Given the description of an element on the screen output the (x, y) to click on. 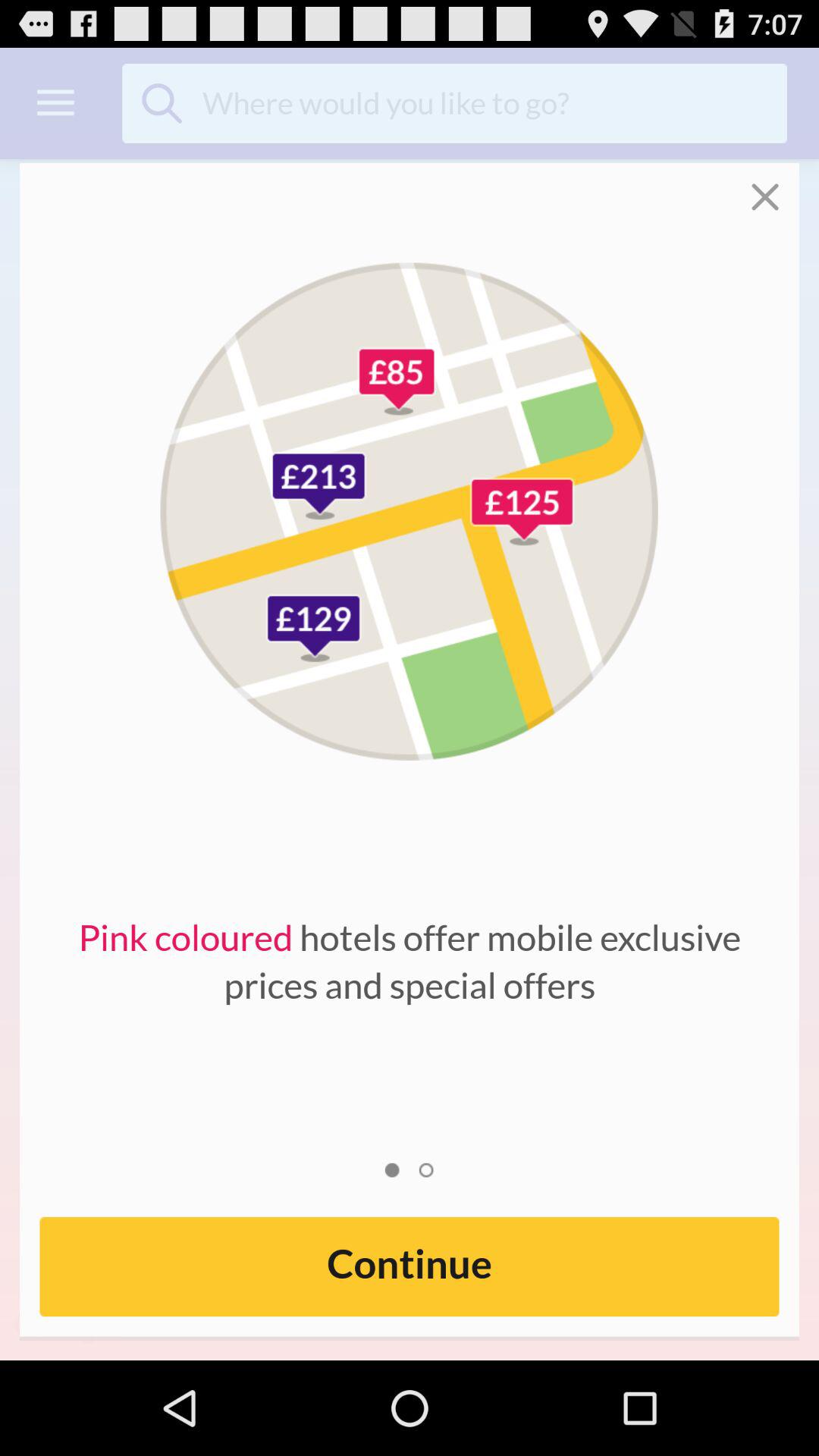
close button (775, 187)
